Given the description of an element on the screen output the (x, y) to click on. 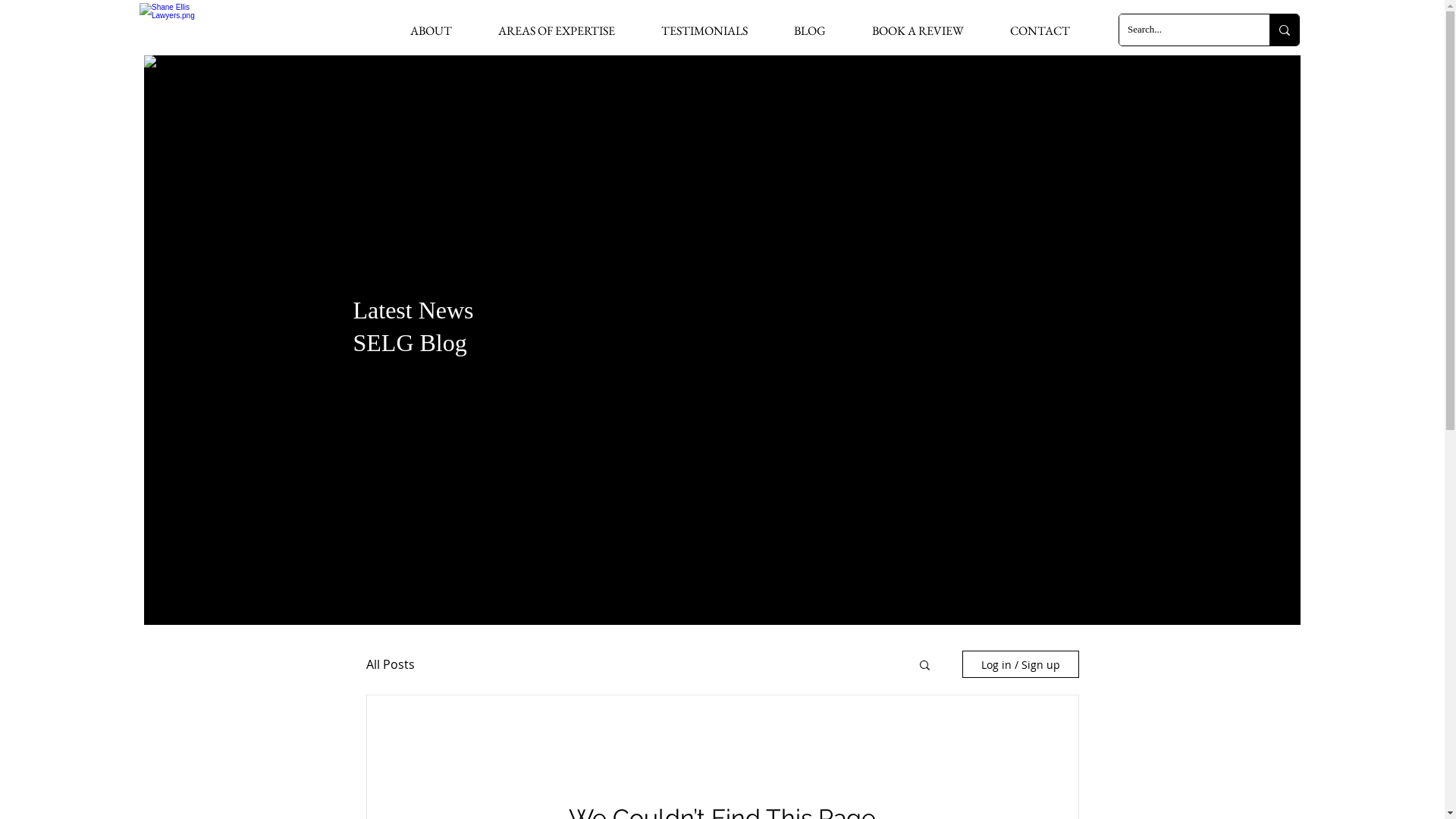
TESTIMONIALS Element type: text (703, 30)
BLOG Element type: text (809, 30)
CONTACT Element type: text (1039, 30)
Shane Ellis Lawyers Element type: hover (170, 26)
Log in / Sign up Element type: text (1019, 663)
BOOK A REVIEW Element type: text (917, 30)
AREAS OF EXPERTISE Element type: text (555, 30)
All Posts Element type: text (389, 663)
